Given the description of an element on the screen output the (x, y) to click on. 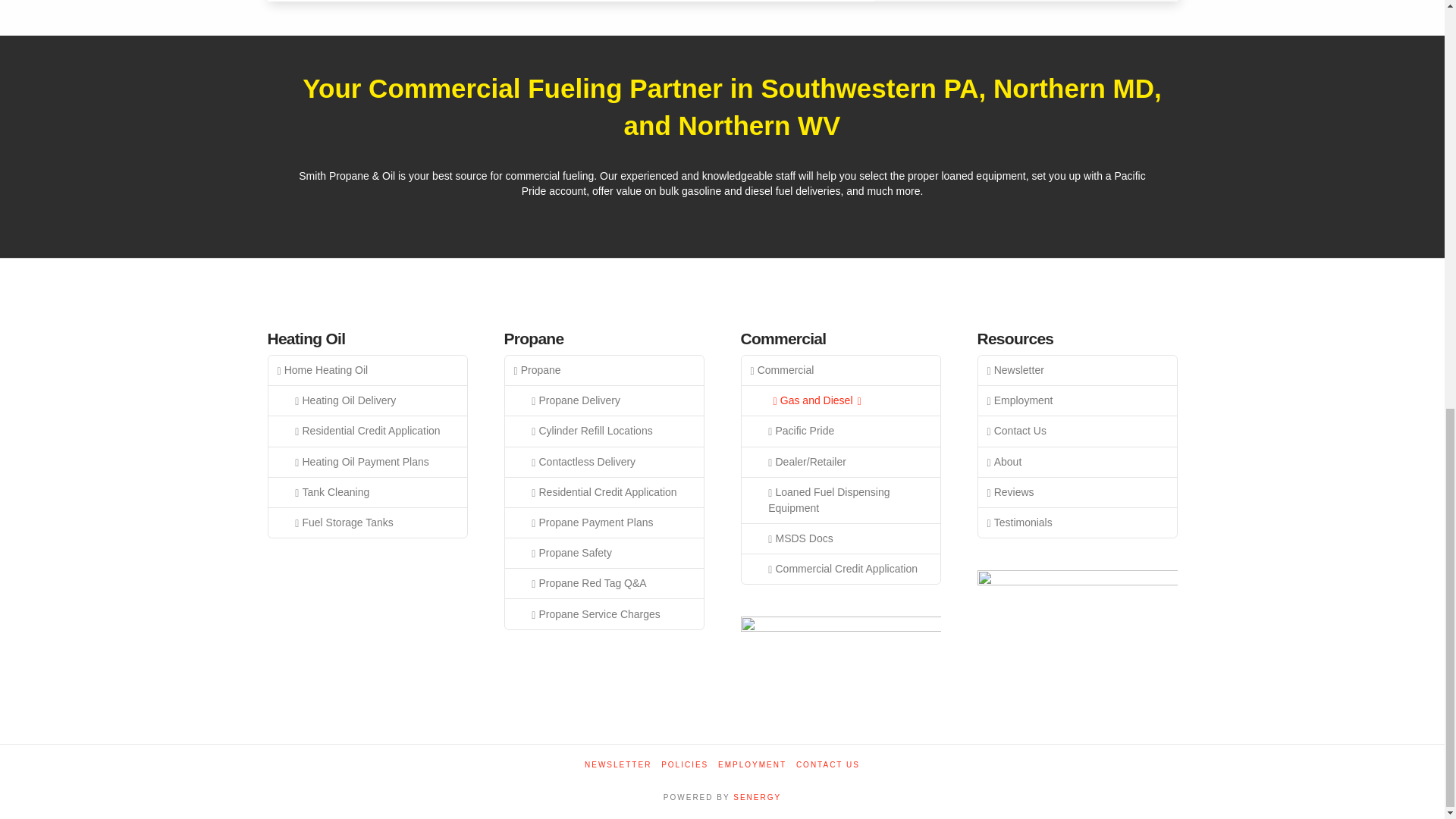
Heating Oil Payment Plans (367, 462)
Residential Credit Application (367, 431)
Home Heating Oil (367, 370)
Heating Oil Delivery (367, 400)
